Given the description of an element on the screen output the (x, y) to click on. 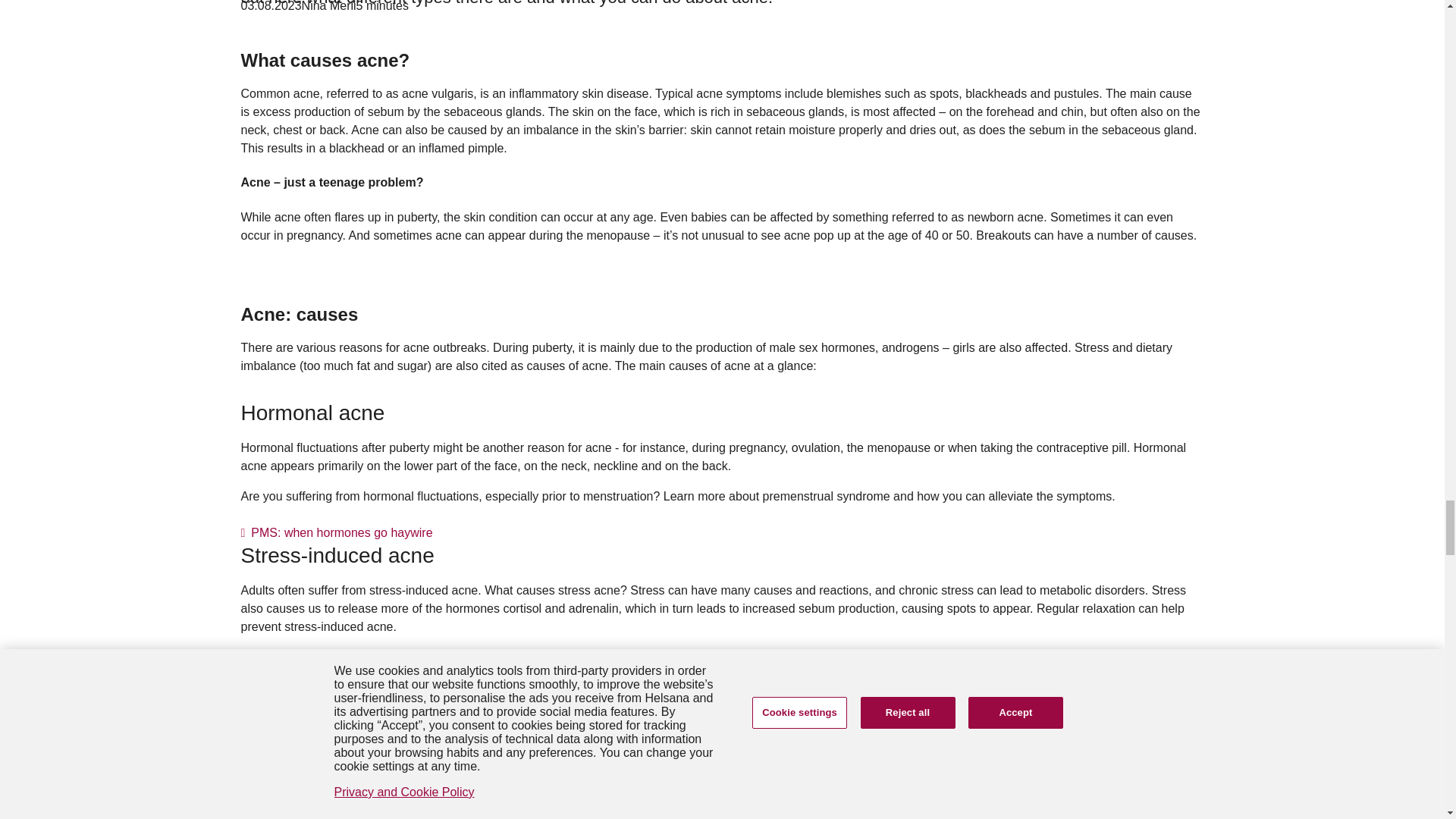
The best relaxation methods (322, 663)
PMS: when hormones go haywire (336, 533)
